Given the description of an element on the screen output the (x, y) to click on. 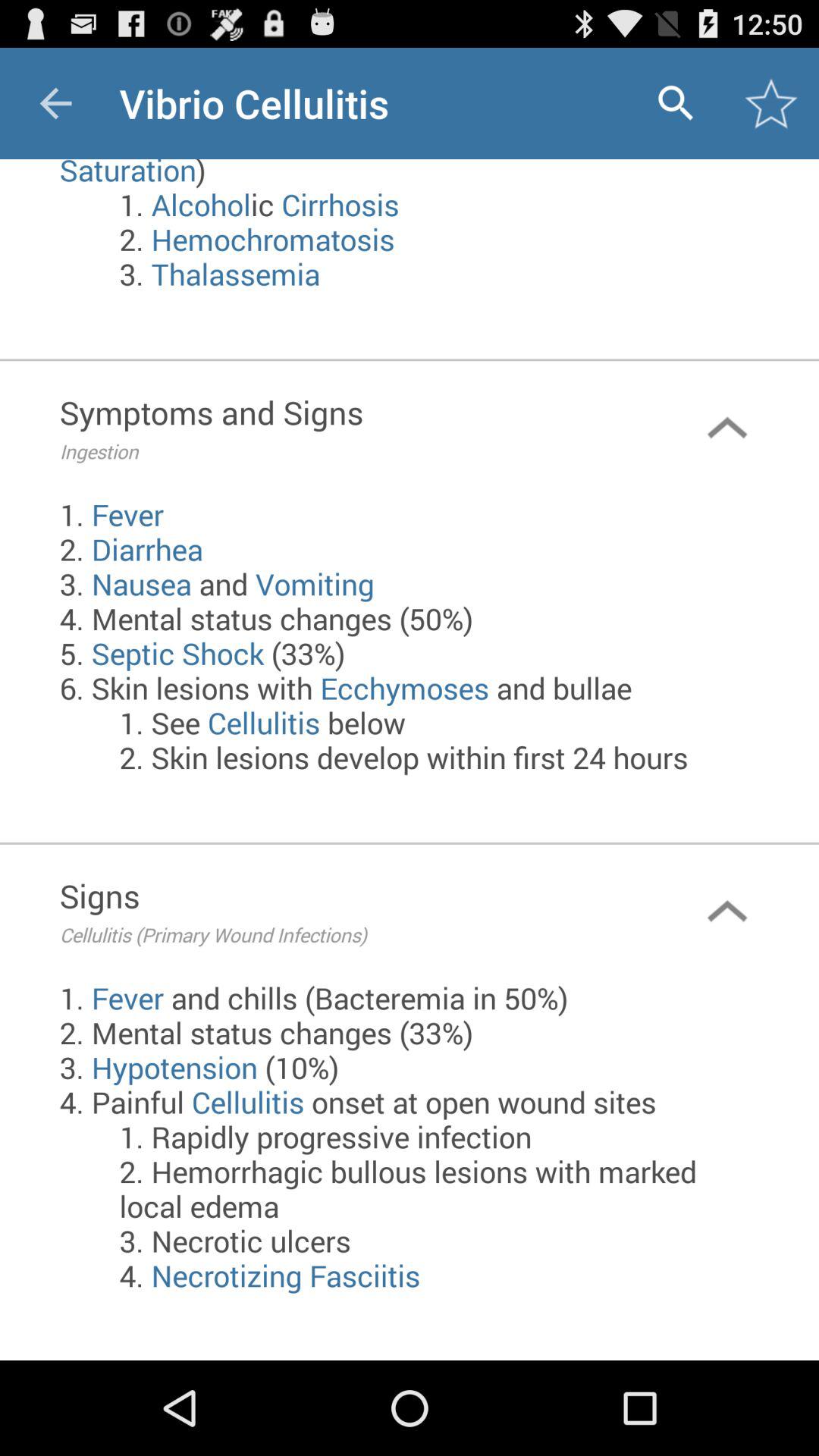
turn off the signs cellulitis primary (347, 911)
